Given the description of an element on the screen output the (x, y) to click on. 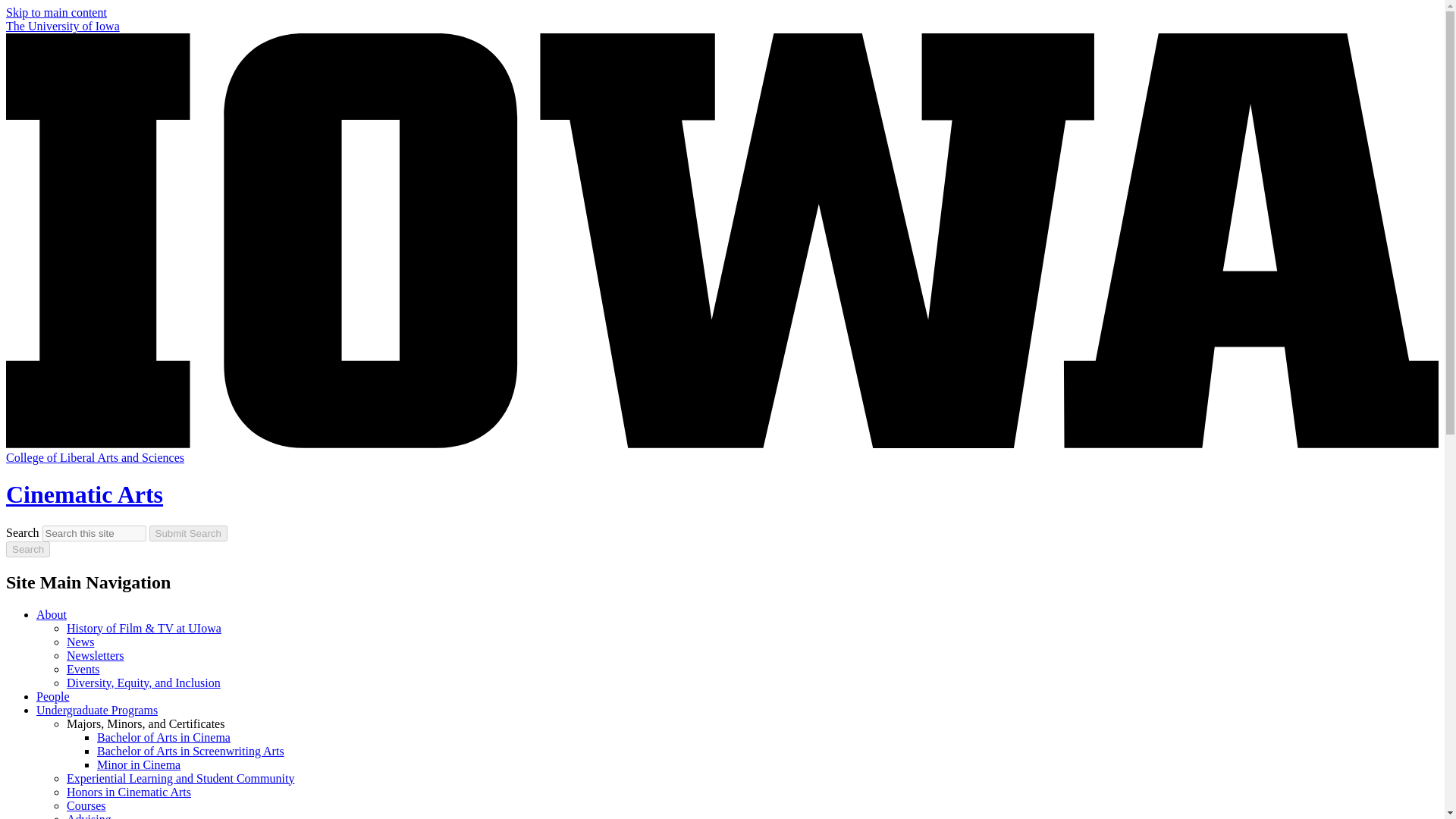
Bachelor of Arts in Cinema (163, 737)
Newsletters (94, 655)
About (51, 614)
People (52, 696)
Submit Search (188, 533)
Minor in Cinema (138, 764)
News (80, 641)
Cinematic Arts (84, 493)
Experiential Learning and Student Community (180, 778)
Undergraduate Programs (96, 709)
